Given the description of an element on the screen output the (x, y) to click on. 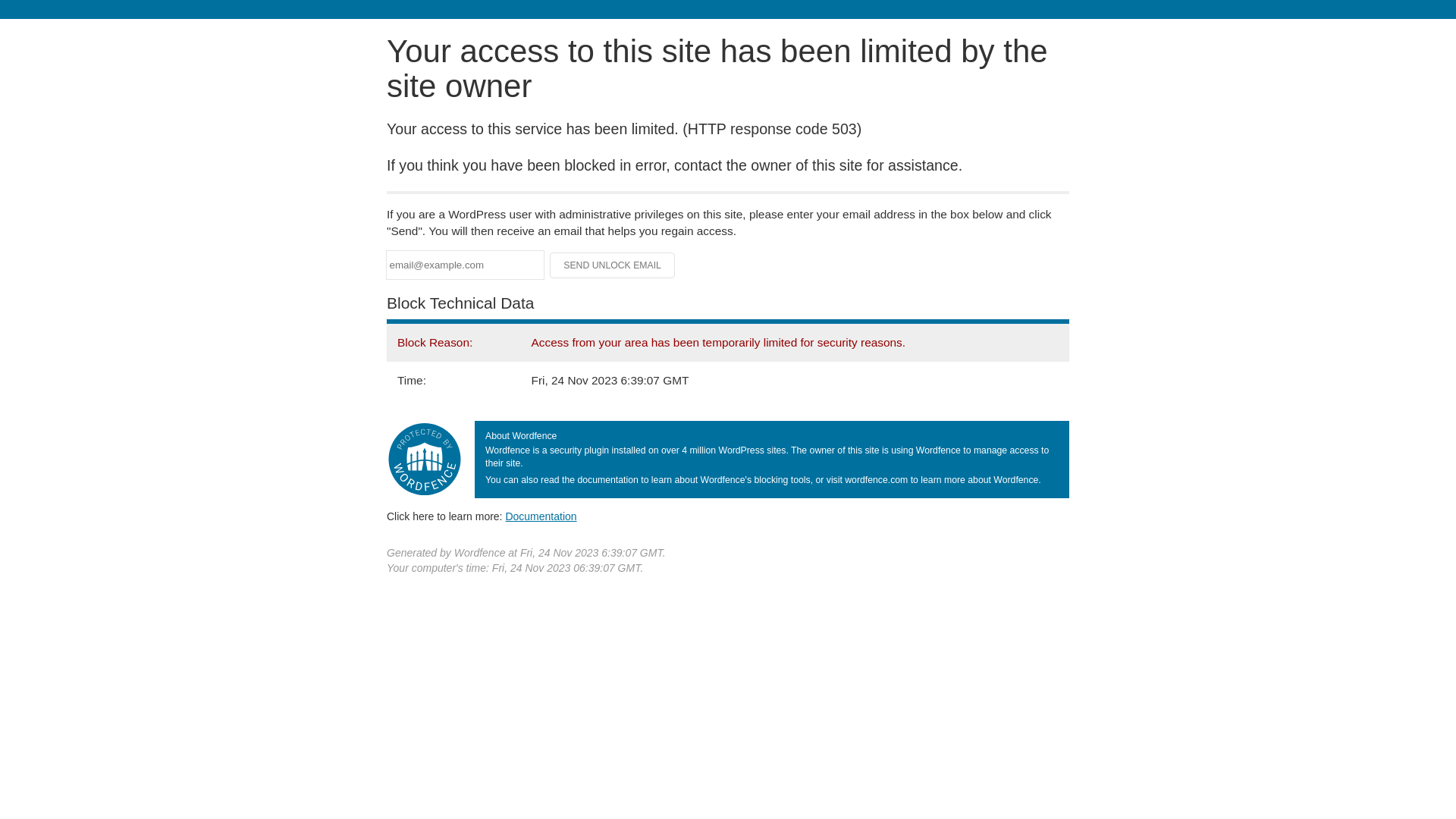
Documentation Element type: text (540, 516)
Send Unlock Email Element type: text (612, 265)
